Given the description of an element on the screen output the (x, y) to click on. 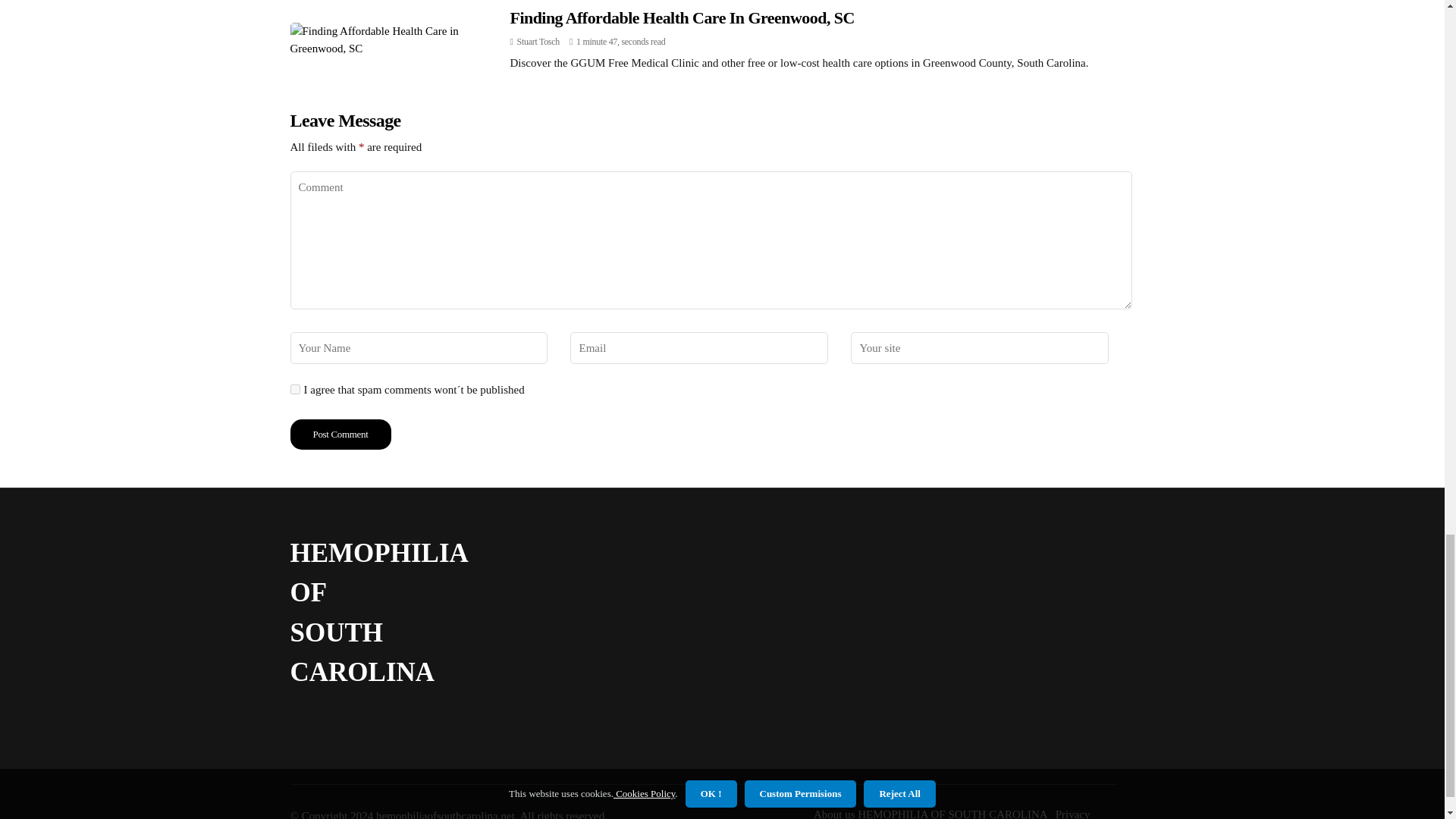
Finding Affordable Health Care In Greenwood, SC (681, 17)
Posts by Stuart Tosch (537, 41)
yes (294, 388)
Post Comment (339, 434)
Stuart Tosch (537, 41)
Post Comment (339, 434)
